Given the description of an element on the screen output the (x, y) to click on. 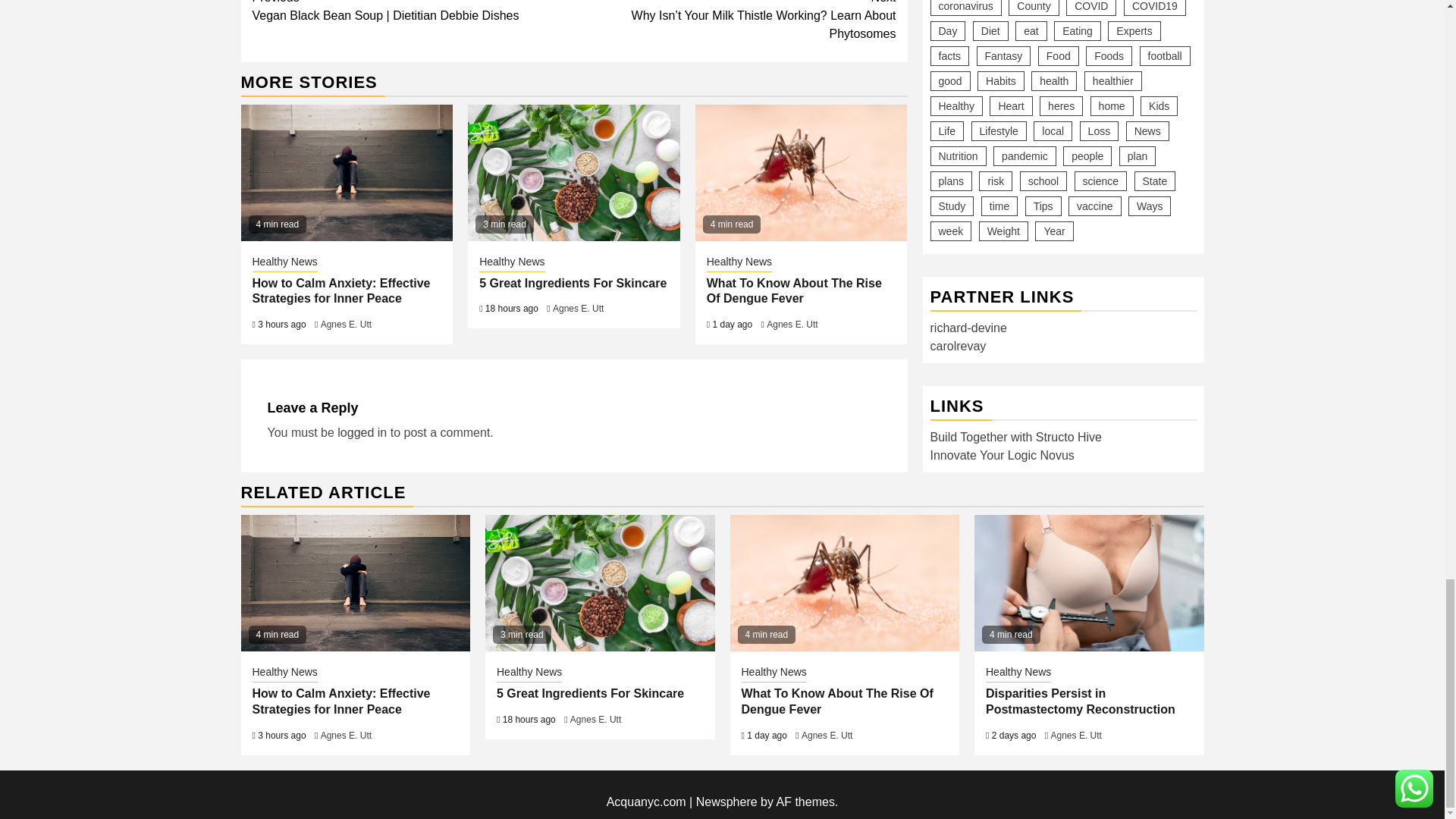
How to Calm Anxiety: Effective Strategies for Inner Peace (355, 583)
What To Know About The Rise Of Dengue Fever (801, 172)
How to Calm Anxiety: Effective Strategies for Inner Peace (340, 290)
5 Great Ingredients For Skincare (573, 172)
5 Great Ingredients For Skincare (599, 583)
Agnes E. Utt (345, 324)
Healthy News (284, 262)
How to Calm Anxiety: Effective Strategies for Inner Peace (346, 172)
